Given the description of an element on the screen output the (x, y) to click on. 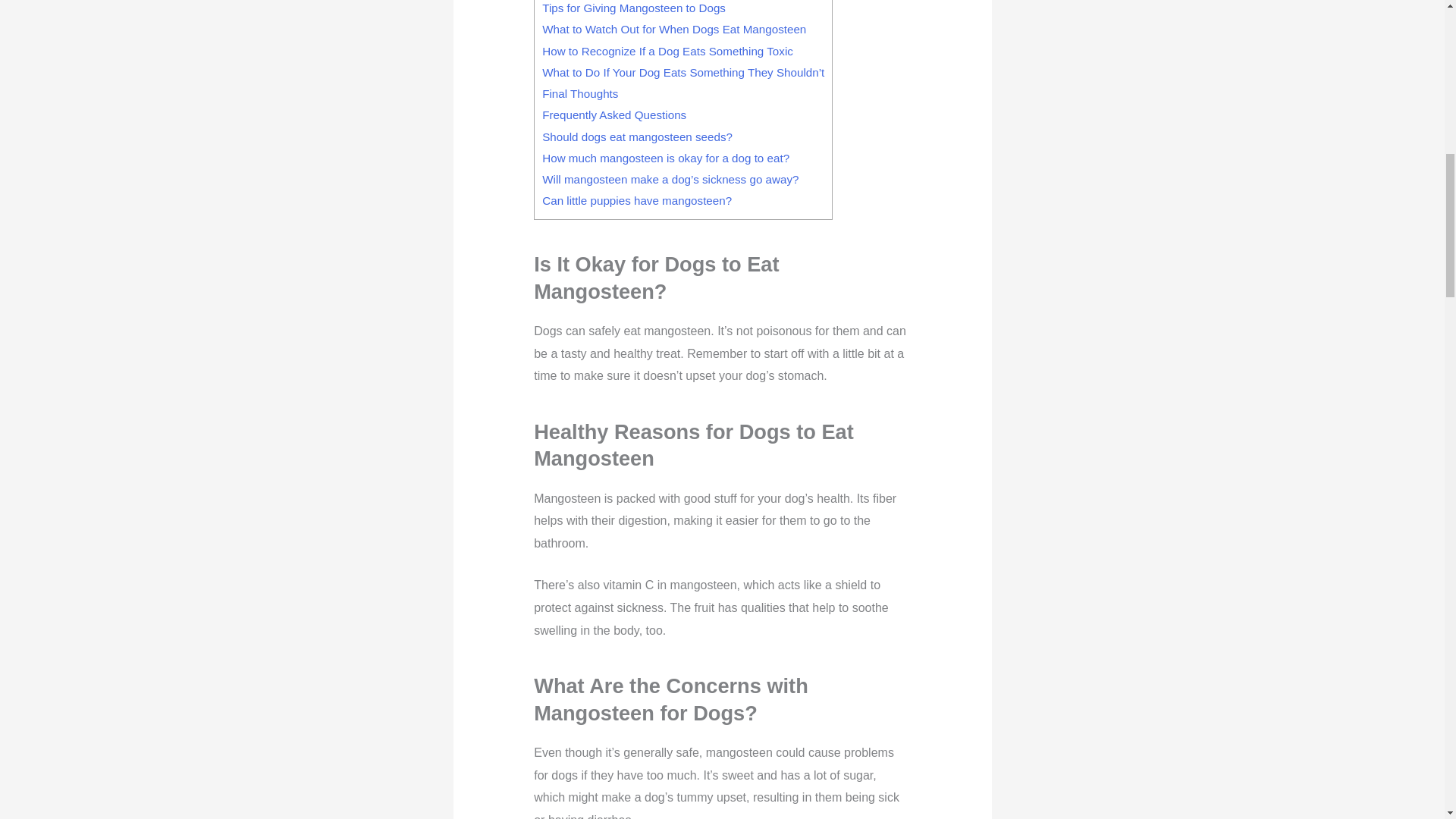
Can little puppies have mangosteen? (636, 200)
How much mangosteen is okay for a dog to eat? (665, 157)
What to Watch Out for When Dogs Eat Mangosteen (673, 29)
Tips for Giving Mangosteen to Dogs (633, 7)
Frequently Asked Questions (613, 114)
How to Recognize If a Dog Eats Something Toxic (667, 51)
Should dogs eat mangosteen seeds? (636, 136)
Final Thoughts (579, 92)
